Given the description of an element on the screen output the (x, y) to click on. 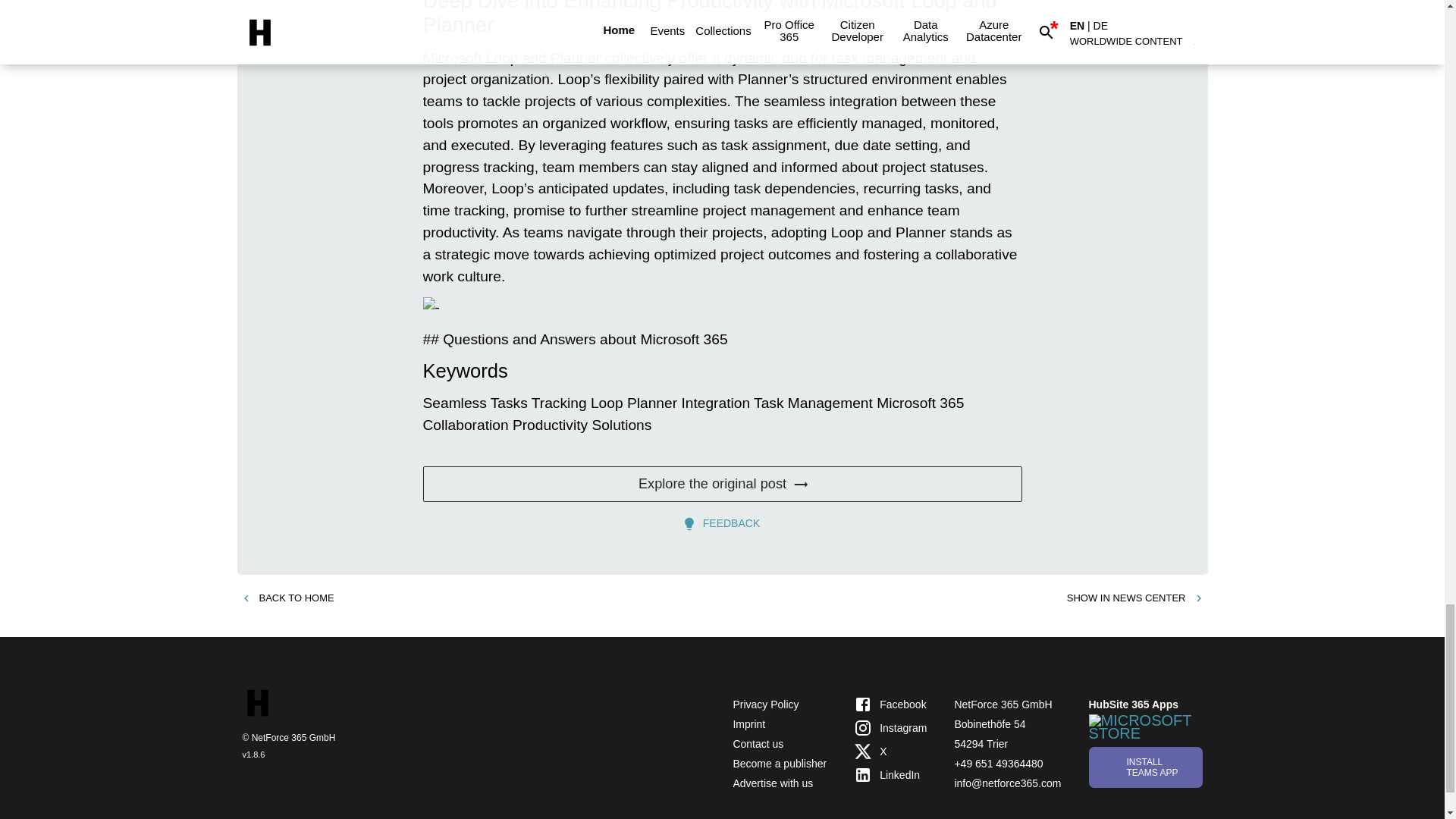
X (889, 751)
FEEDBACK (721, 523)
Explore the original post (722, 484)
Advertise with us (772, 783)
SHOW IN NEWS CENTER (1135, 598)
NetForce 365 GmbH (1002, 704)
BACK TO HOME (286, 598)
Contact us (757, 743)
Imprint (748, 724)
LinkedIn (889, 774)
